Given the description of an element on the screen output the (x, y) to click on. 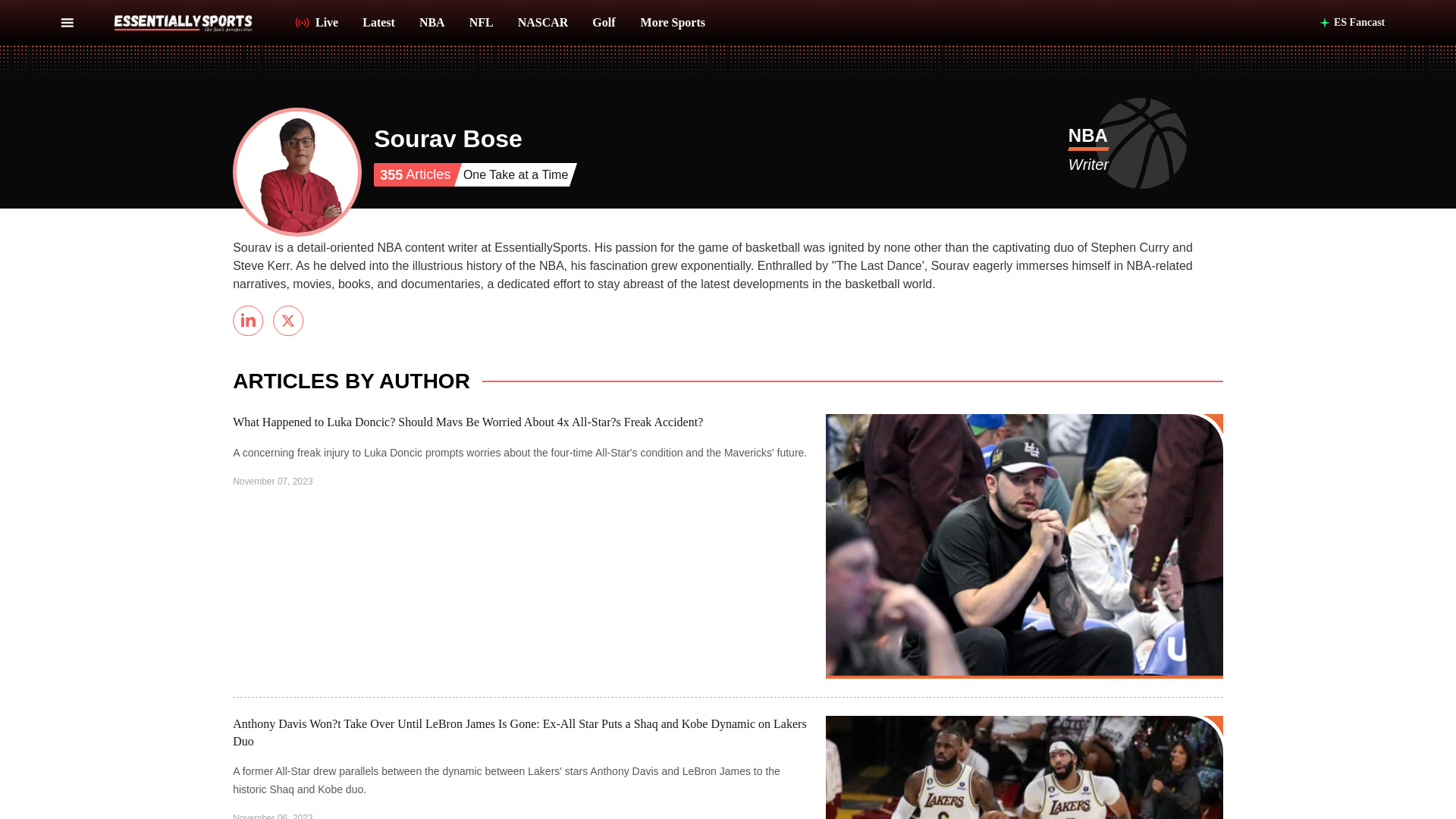
Live (316, 23)
NASCAR (543, 23)
NBA (1088, 137)
